Given the description of an element on the screen output the (x, y) to click on. 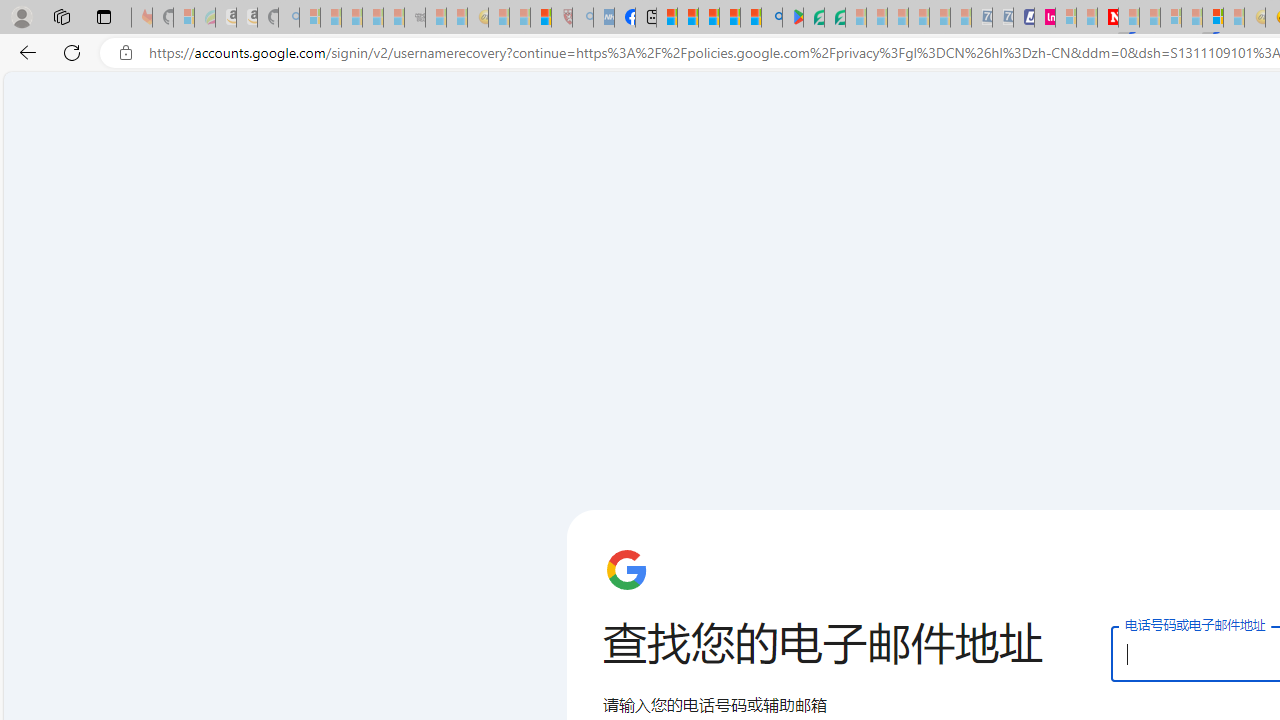
Local - MSN (541, 17)
Latest Politics News & Archive | Newsweek.com (1107, 17)
